Given the description of an element on the screen output the (x, y) to click on. 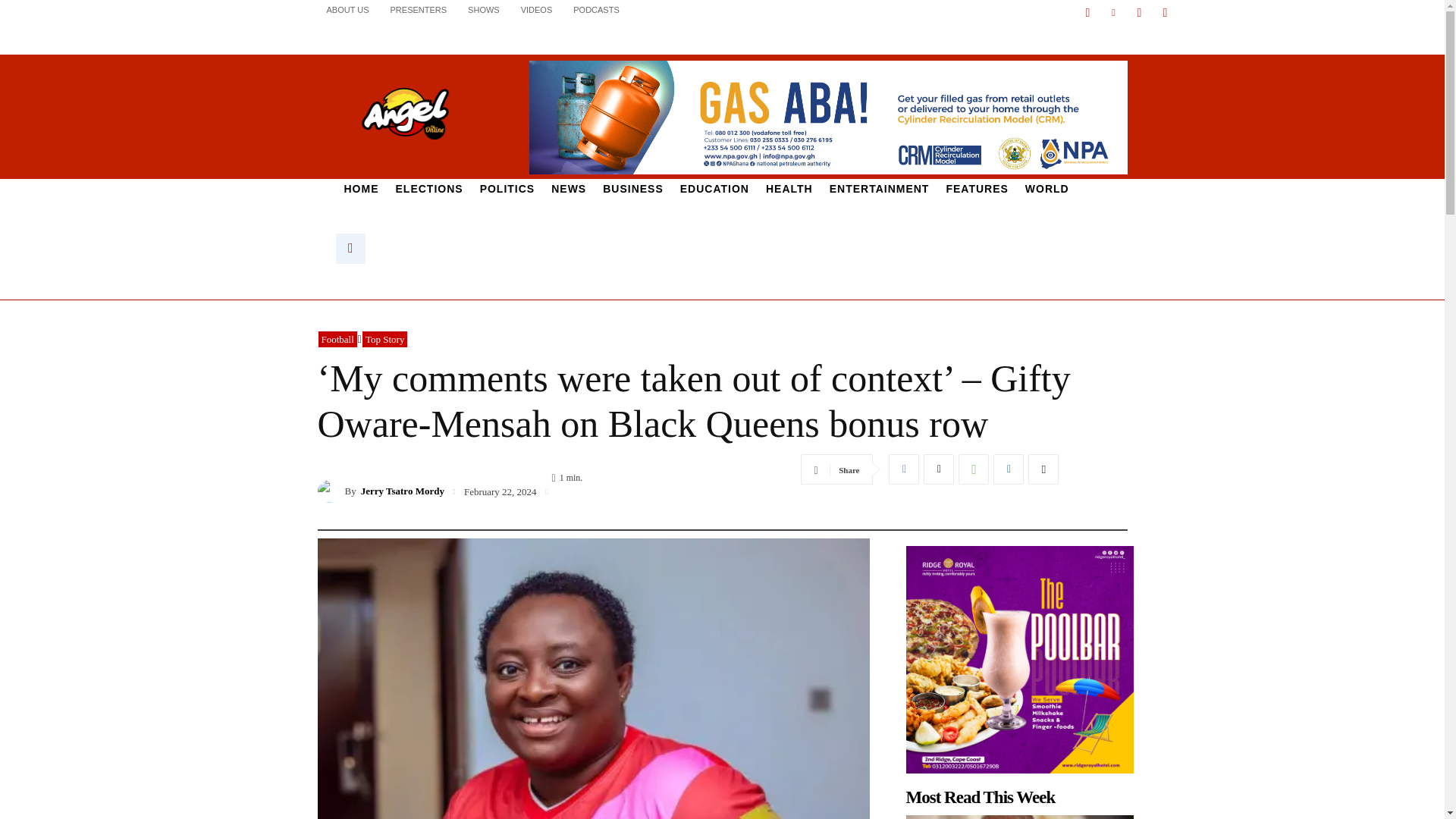
FEATURES (976, 188)
WORLD (1046, 188)
EDUCATION (714, 188)
POLITICS (507, 188)
ENTERTAINMENT (879, 188)
WhatsApp (973, 469)
Jerry Tsatro Mordy (330, 490)
Facebook (1087, 13)
PRESENTERS (419, 9)
Facebook (903, 469)
SHOWS (484, 9)
Linkedin (1112, 13)
Youtube (1164, 13)
VIDEOS (537, 9)
PODCASTS (596, 9)
